Given the description of an element on the screen output the (x, y) to click on. 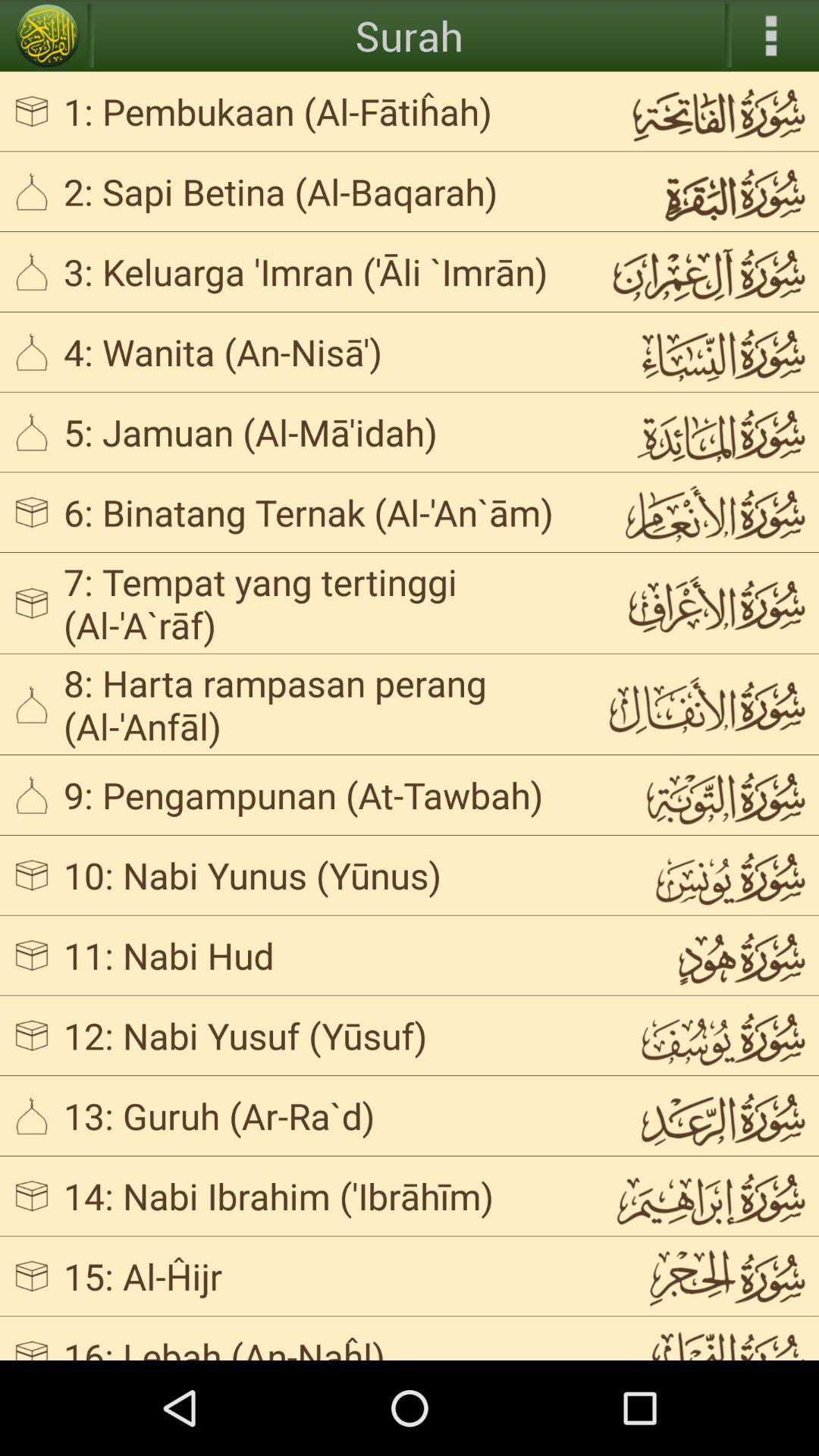
turn on the 1 pembukaan al app (322, 110)
